Given the description of an element on the screen output the (x, y) to click on. 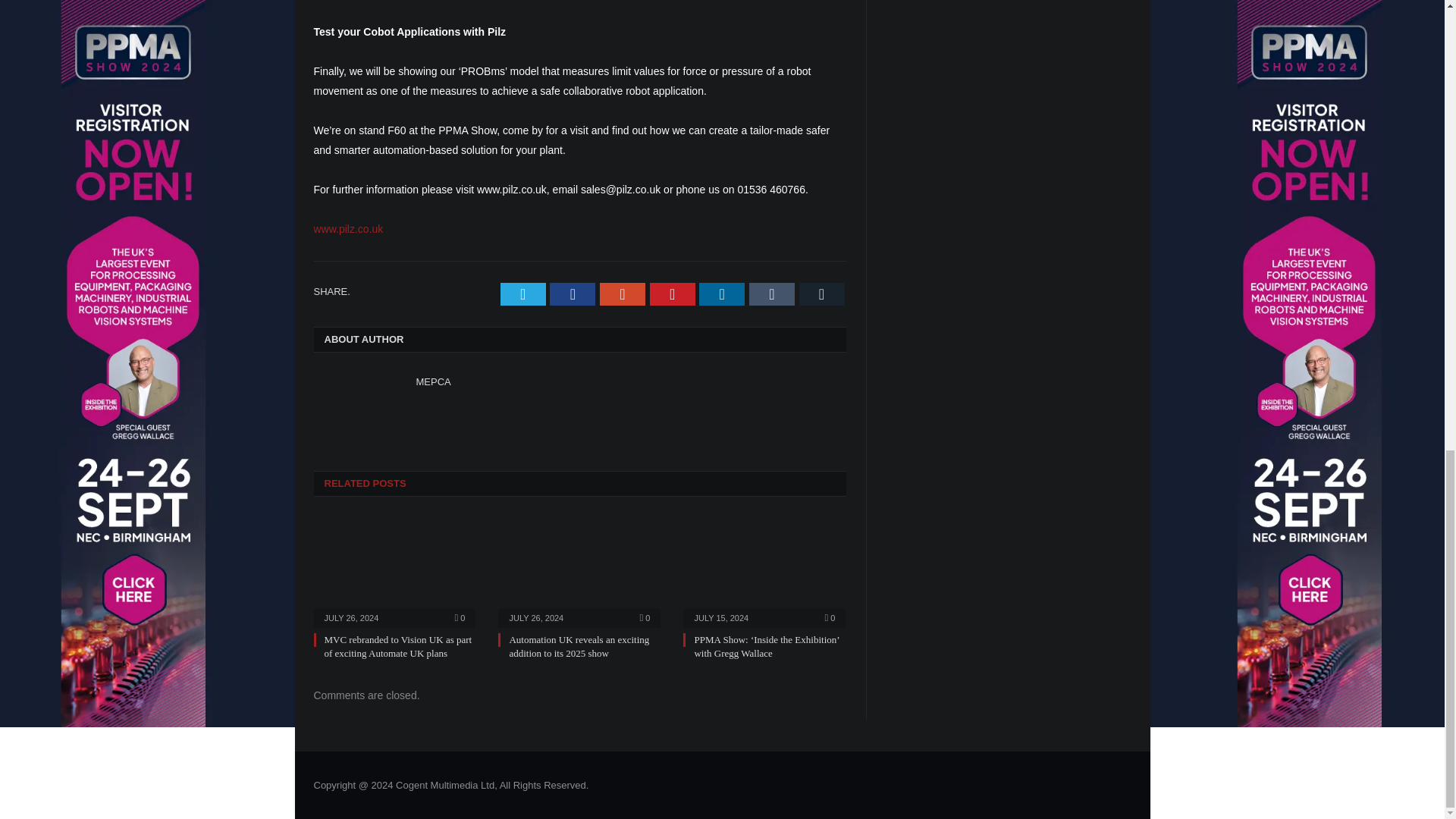
Posts by MEPCA (431, 381)
